Given the description of an element on the screen output the (x, y) to click on. 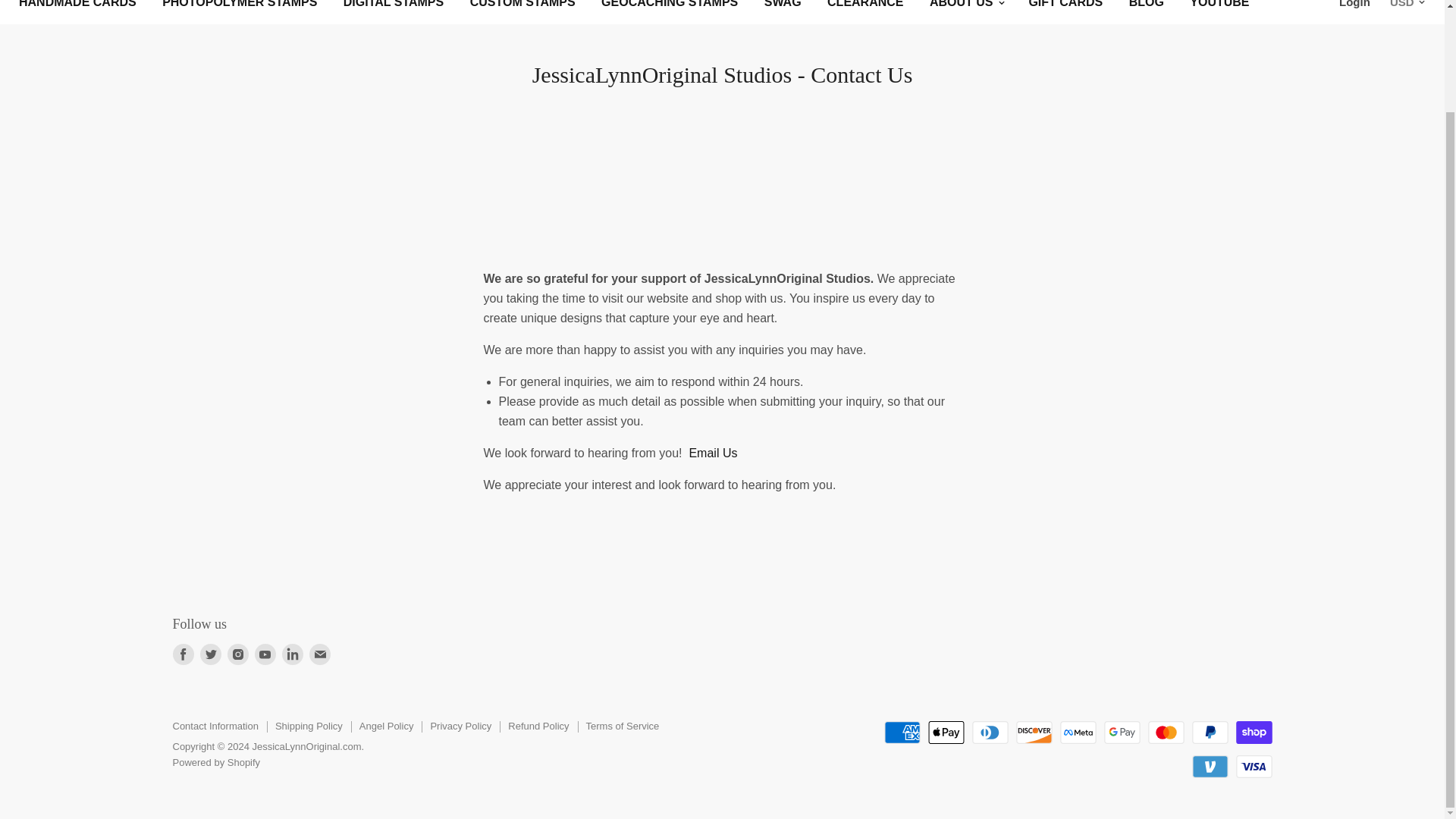
CLEARANCE (864, 9)
Diners Club (990, 732)
LinkedIn (292, 654)
BLOG (1146, 9)
DIGITAL STAMPS (392, 9)
Apple Pay (945, 732)
Twitter (210, 654)
Youtube (265, 654)
Facebook (183, 654)
YOUTUBE (1218, 9)
